Given the description of an element on the screen output the (x, y) to click on. 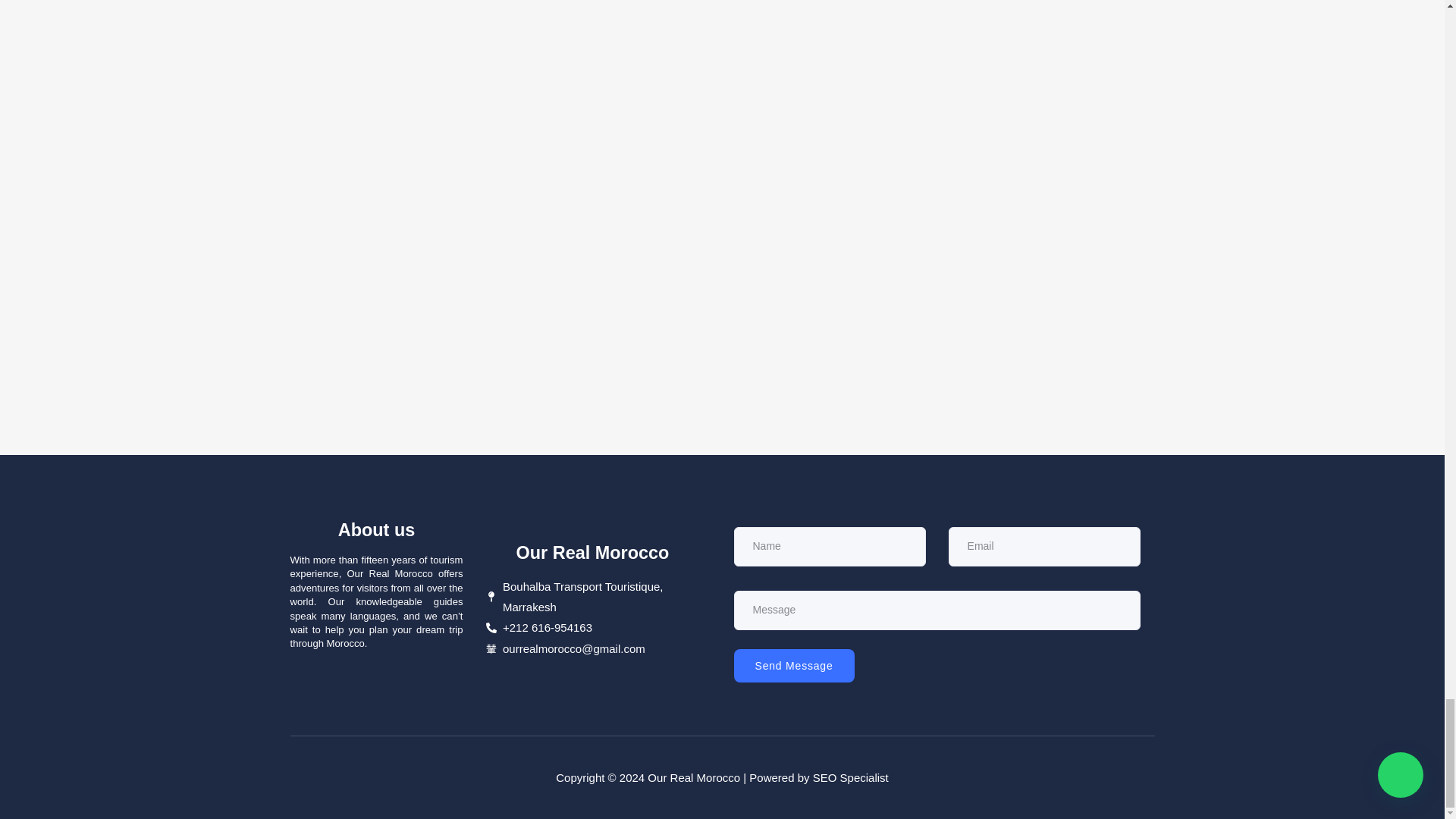
Send Message (793, 665)
Send Message (936, 611)
